Given the description of an element on the screen output the (x, y) to click on. 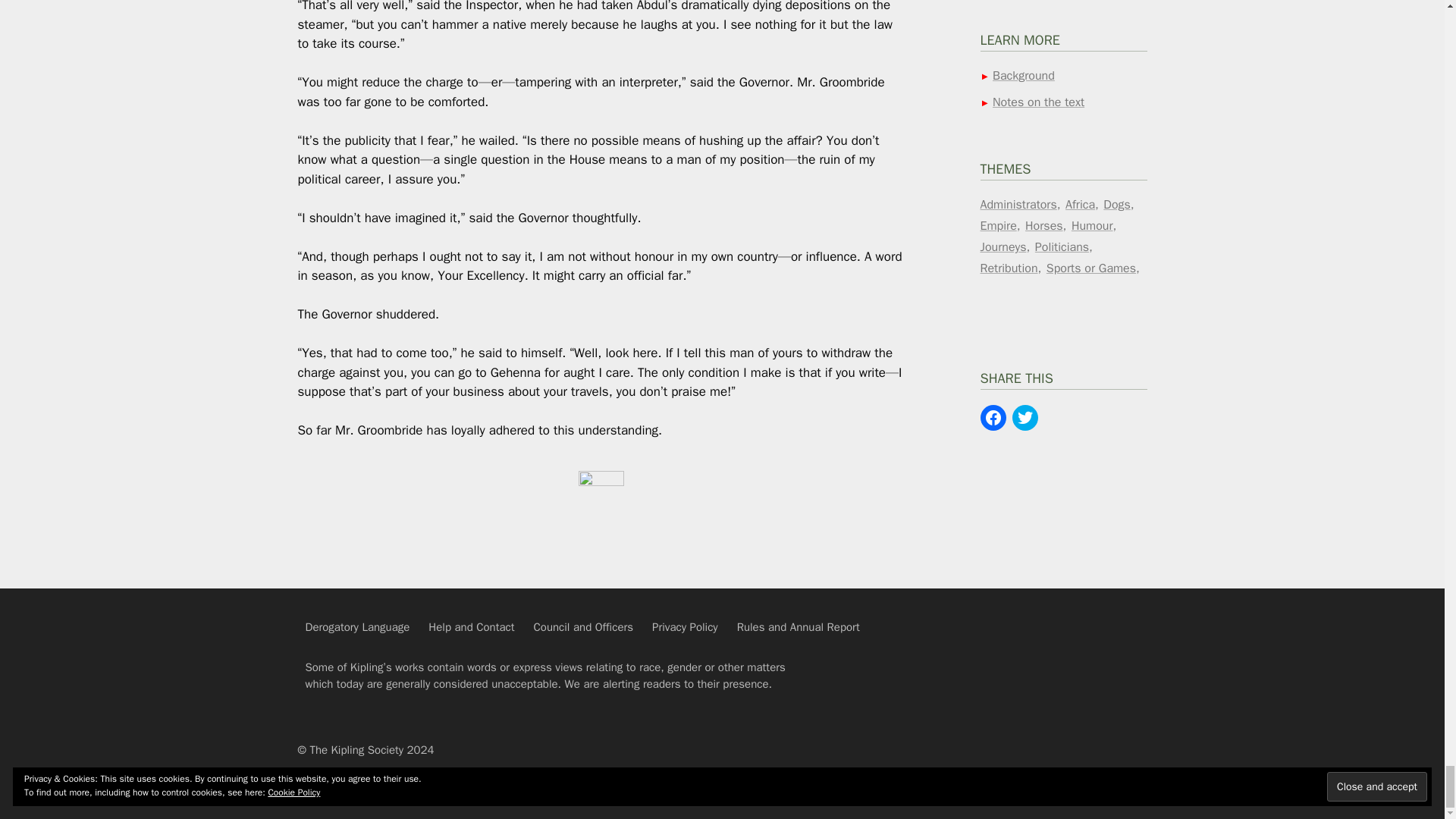
Council and Officers (583, 626)
Rules and Annual Report (798, 626)
Help and Contact (470, 626)
Privacy Policy (684, 626)
Twitter (1016, 675)
YouTube (1016, 637)
Instagram (1064, 675)
Derogatory Language (356, 626)
Facebook (1112, 637)
Spotify (1064, 637)
